Given the description of an element on the screen output the (x, y) to click on. 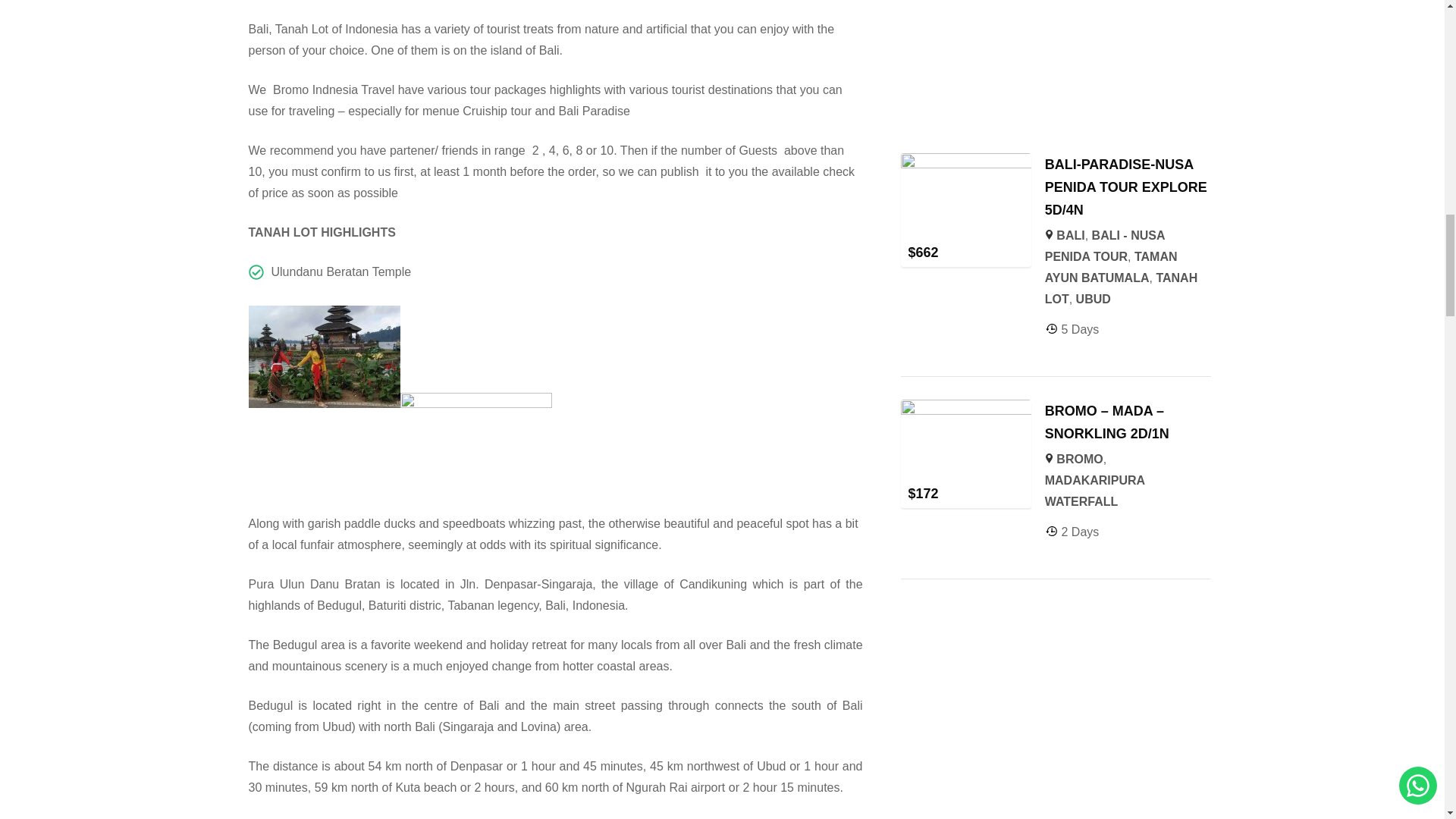
REVIEW US (1056, 53)
